Given the description of an element on the screen output the (x, y) to click on. 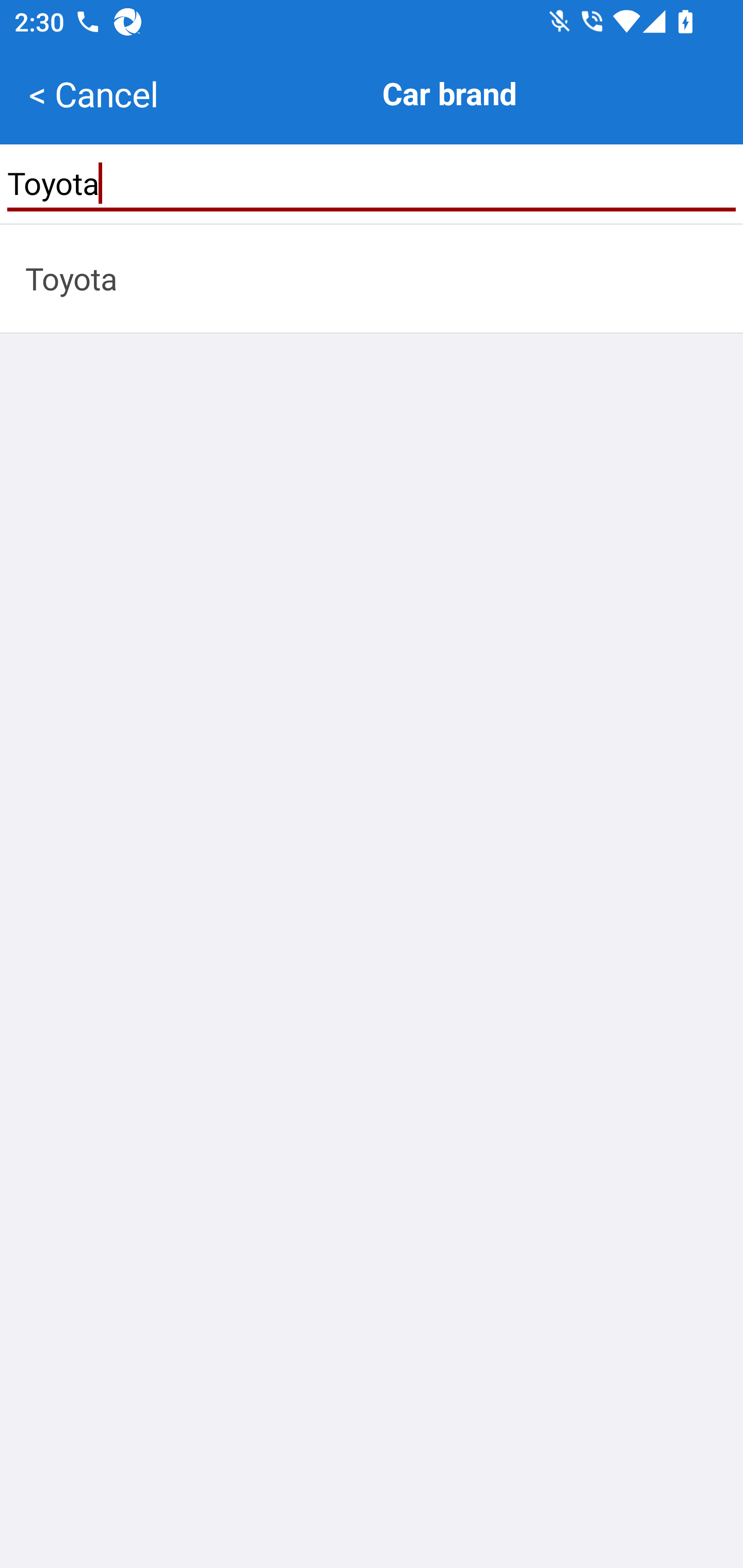
< Cancel (93, 93)
Toyota (371, 183)
Toyota (371, 278)
